Given the description of an element on the screen output the (x, y) to click on. 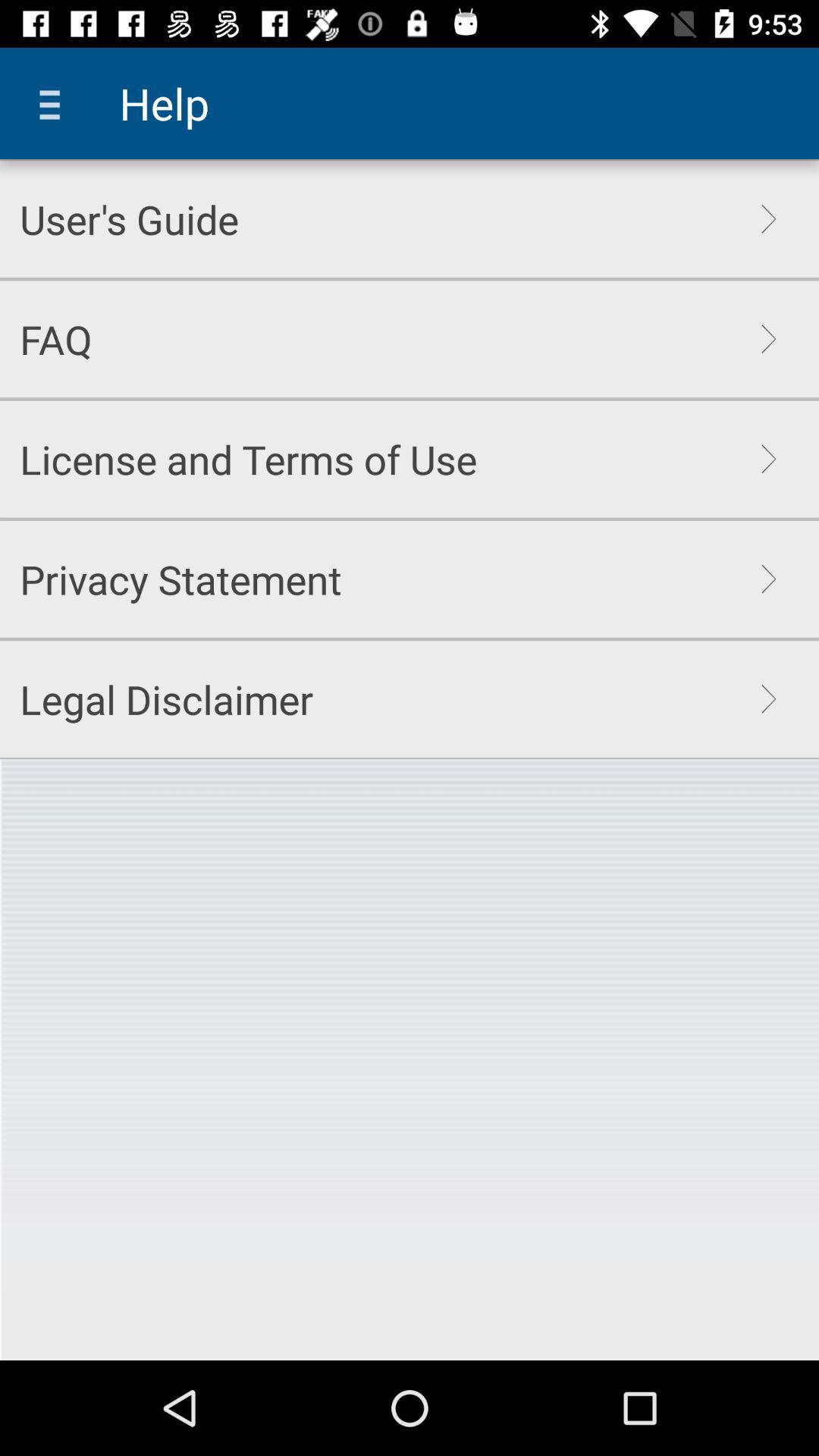
open the icon above the faq (129, 218)
